Given the description of an element on the screen output the (x, y) to click on. 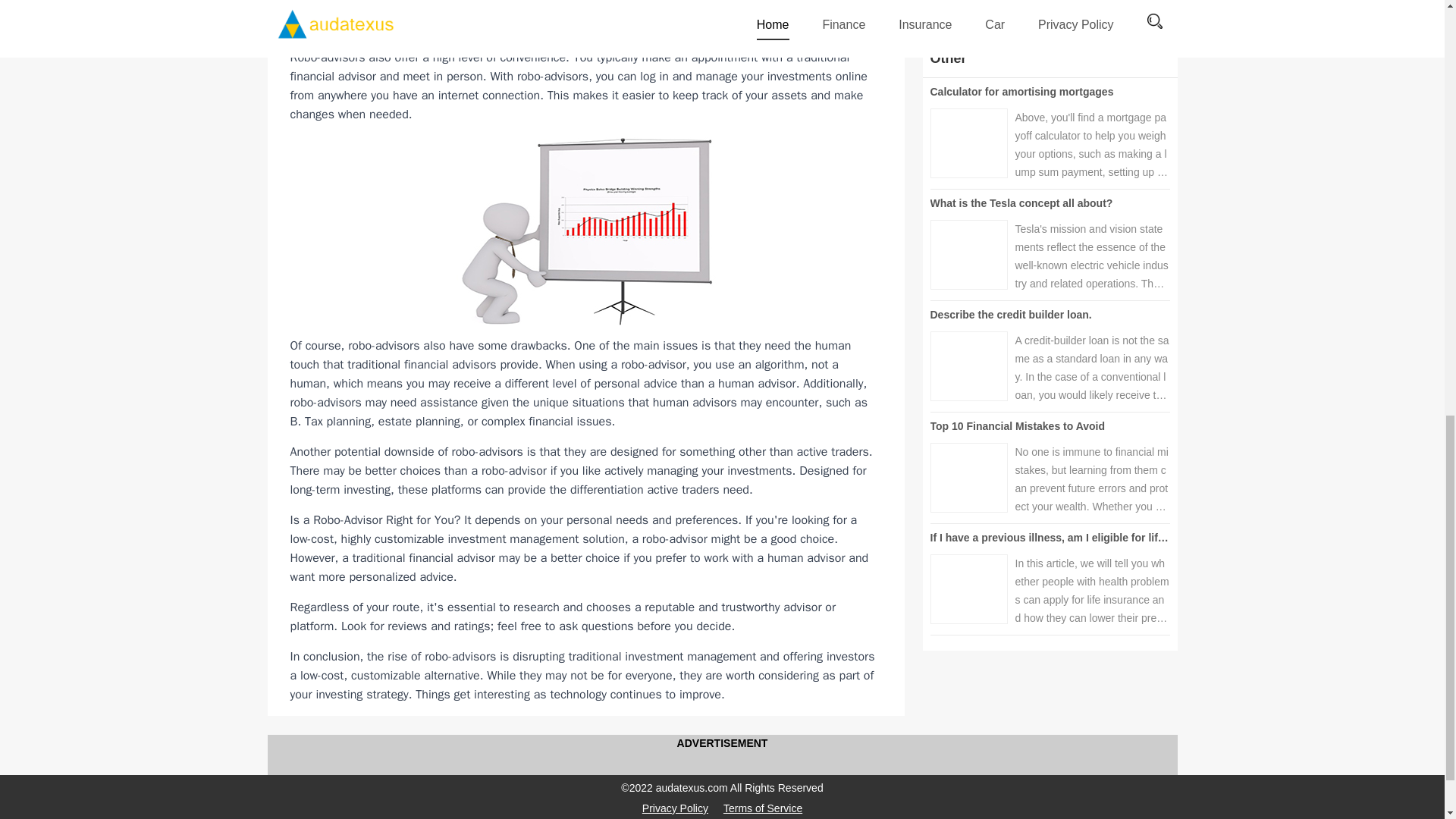
Calculator for amortising mortgages (1021, 91)
What is the Tesla concept all about? (1021, 203)
Top 10 Financial Mistakes to Avoid (1017, 426)
Privacy Policy (674, 808)
Terms of Service (762, 808)
Describe the credit builder loan. (1010, 314)
